Given the description of an element on the screen output the (x, y) to click on. 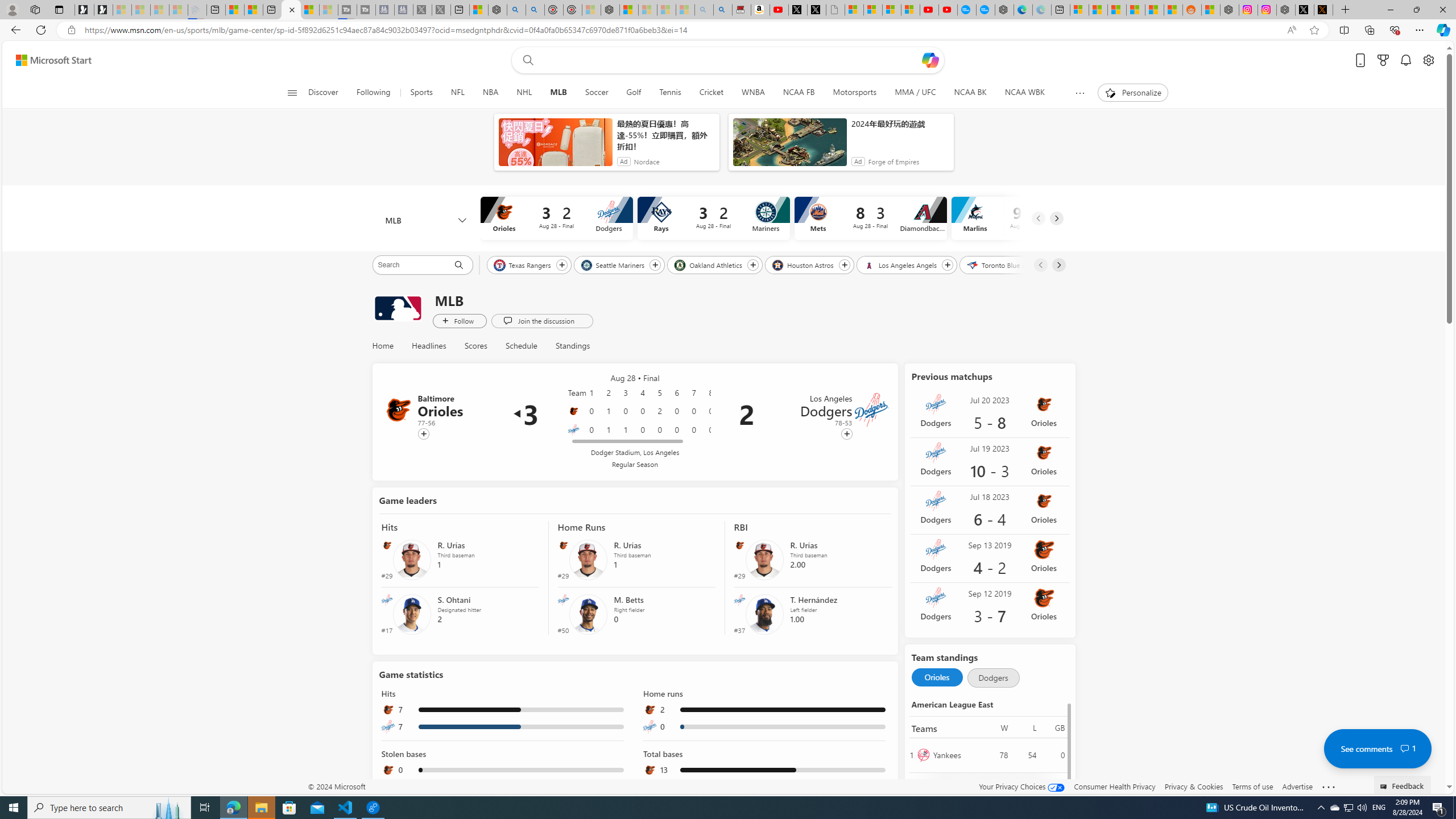
Class: oneFooter_seeMore-DS-EntryPoint1-1 (1328, 786)
Wildlife - MSN (478, 9)
Follow Texas Rangers (561, 265)
Terms of use (1252, 786)
Seattle Mariners (613, 264)
